Given the description of an element on the screen output the (x, y) to click on. 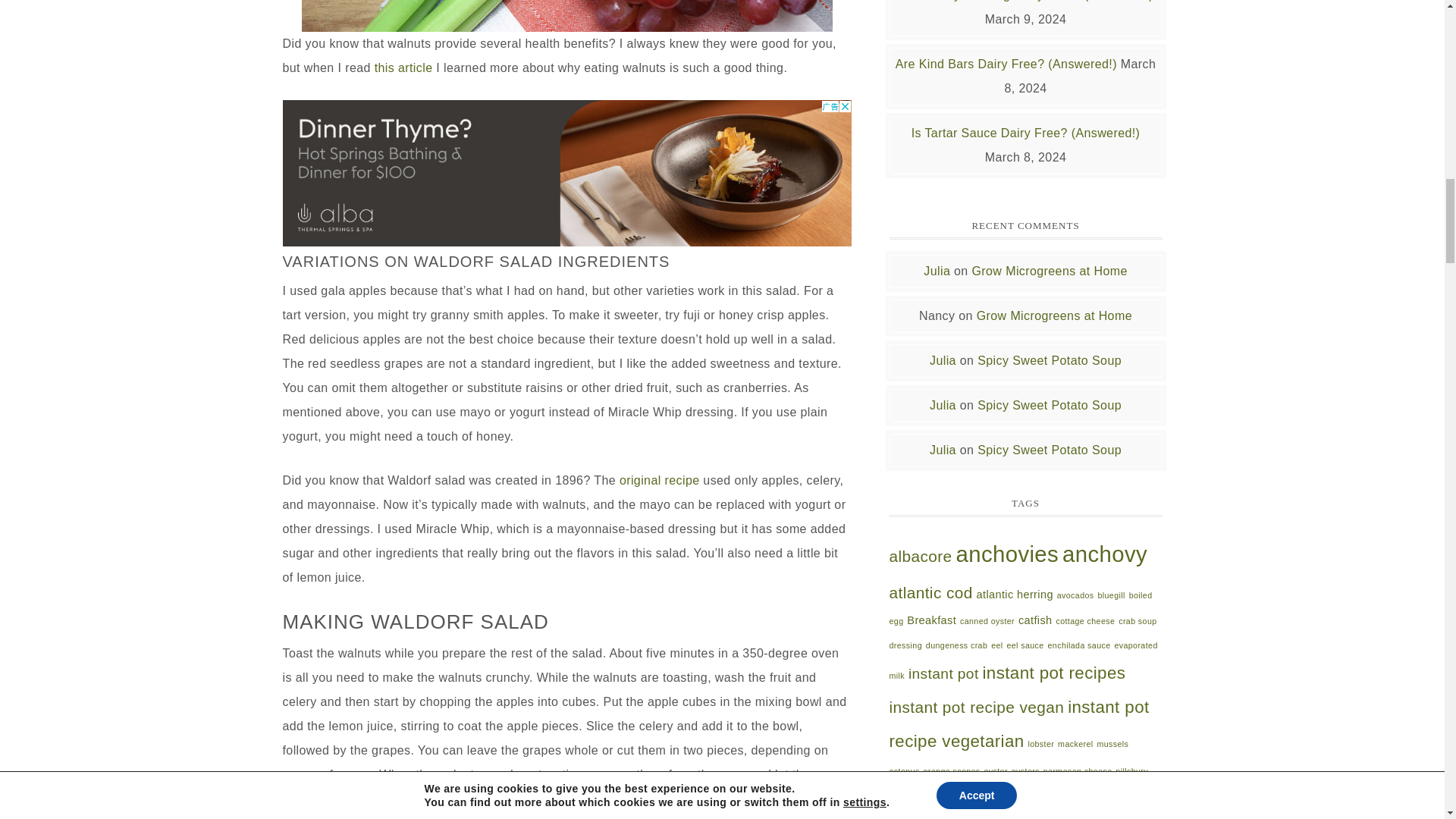
this article (403, 66)
original recipe (660, 479)
Advertisement (566, 172)
